Given the description of an element on the screen output the (x, y) to click on. 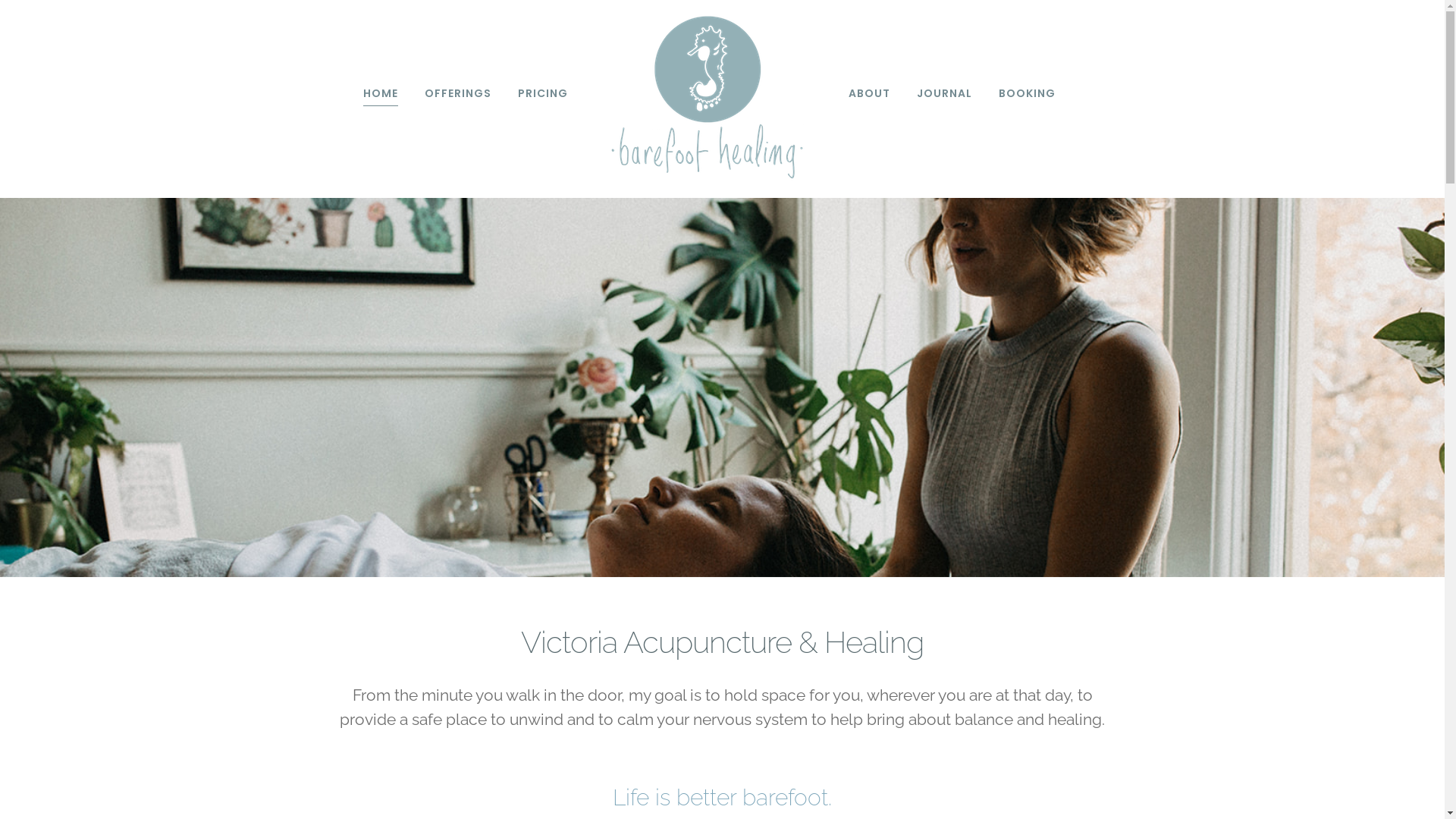
HOME Element type: text (379, 93)
PRICING Element type: text (542, 93)
JOURNAL Element type: text (943, 93)
OFFERINGS Element type: text (457, 93)
ABOUT Element type: text (868, 93)
BOOKING Element type: text (1025, 93)
